Given the description of an element on the screen output the (x, y) to click on. 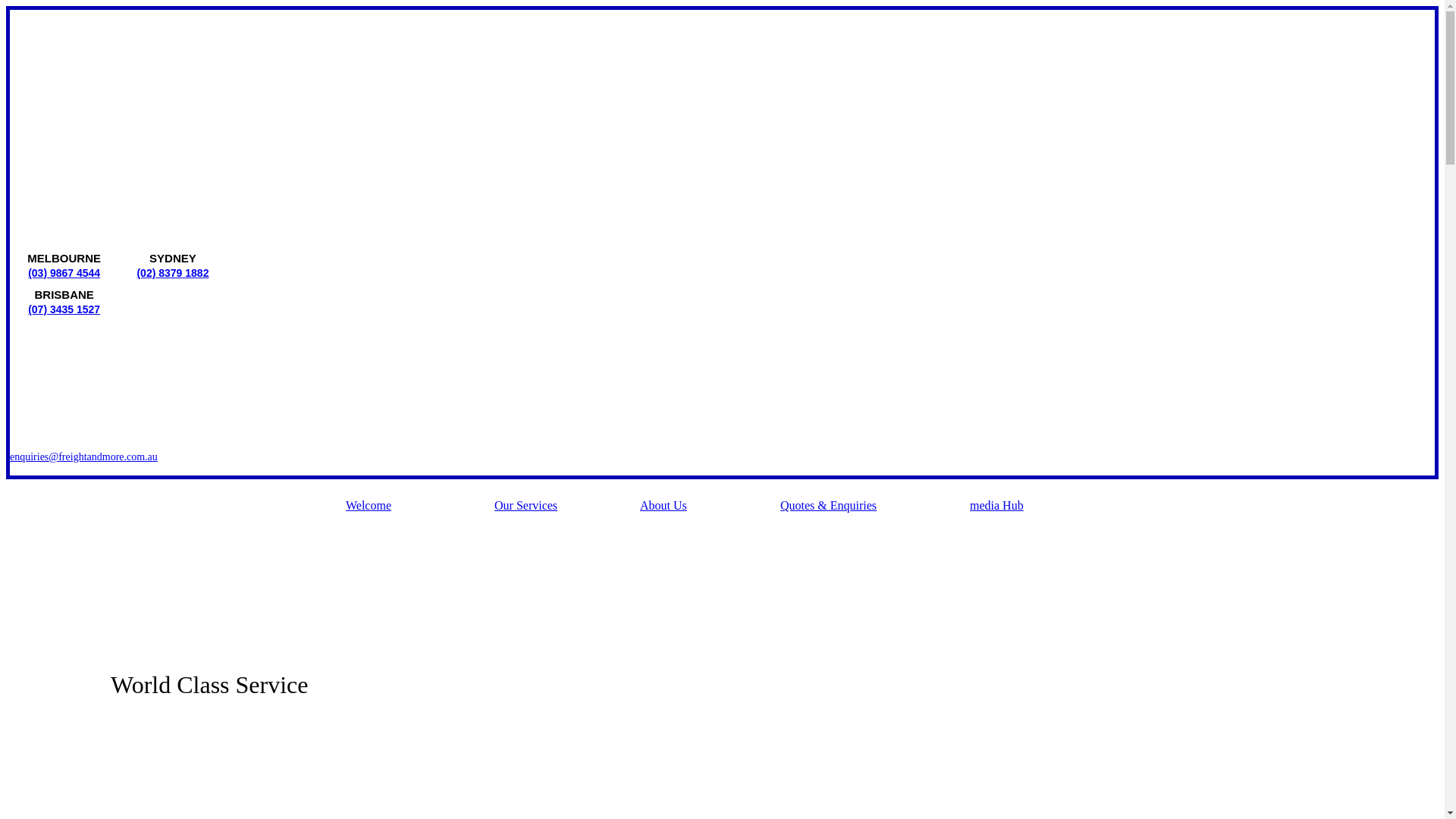
enquiries@freightandmore.com.au Element type: text (83, 457)
About Us Element type: text (710, 509)
(03) 9867 4544 Element type: text (64, 272)
media Hub Element type: text (1033, 509)
Quotes & Enquiries Element type: text (874, 509)
Our Services Element type: text (567, 509)
(02) 8379 1882 Element type: text (172, 272)
(07) 3435 1527 Element type: text (64, 309)
Welcome Element type: text (419, 509)
